Given the description of an element on the screen output the (x, y) to click on. 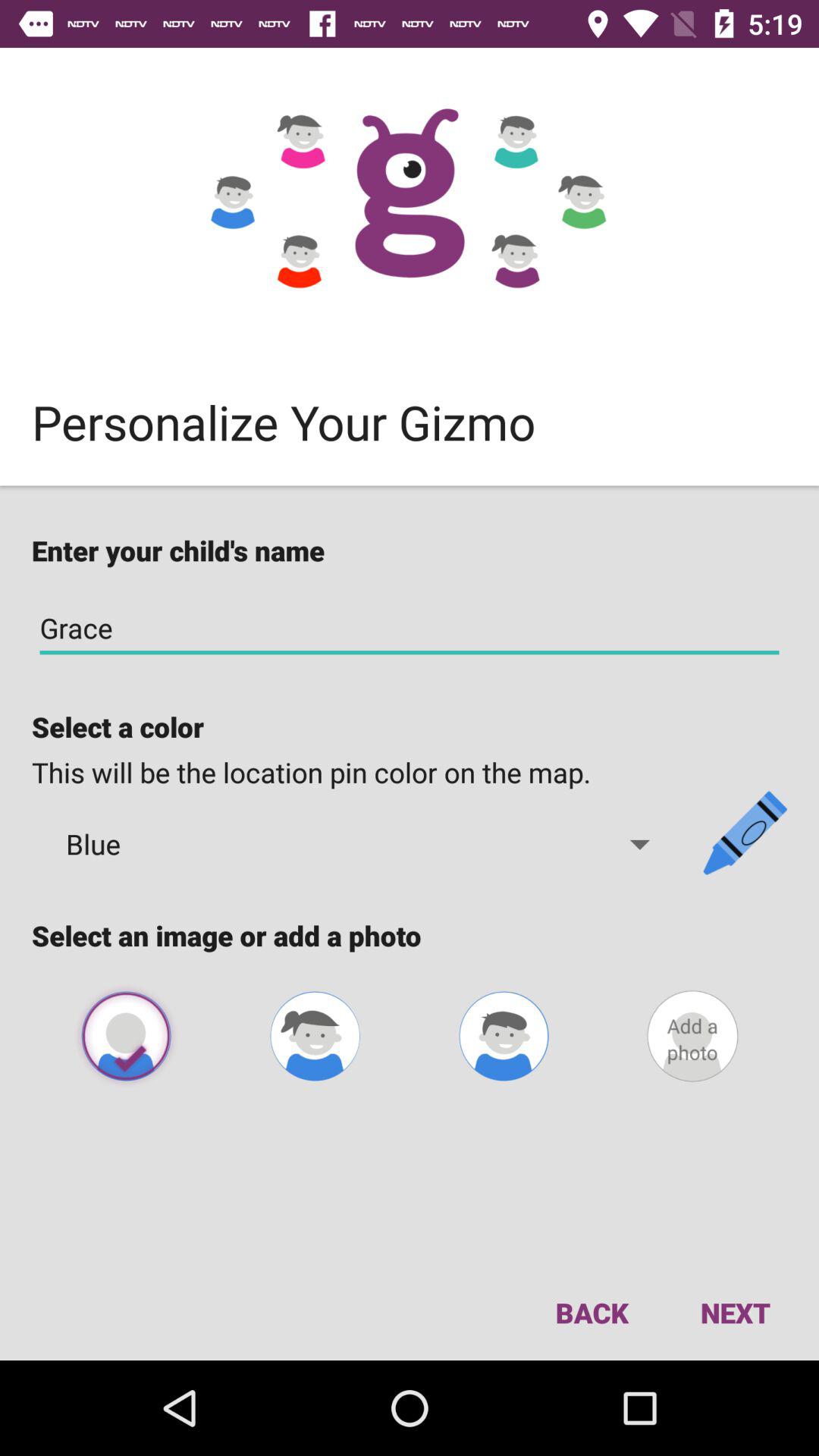
select photo for female (314, 1036)
